Given the description of an element on the screen output the (x, y) to click on. 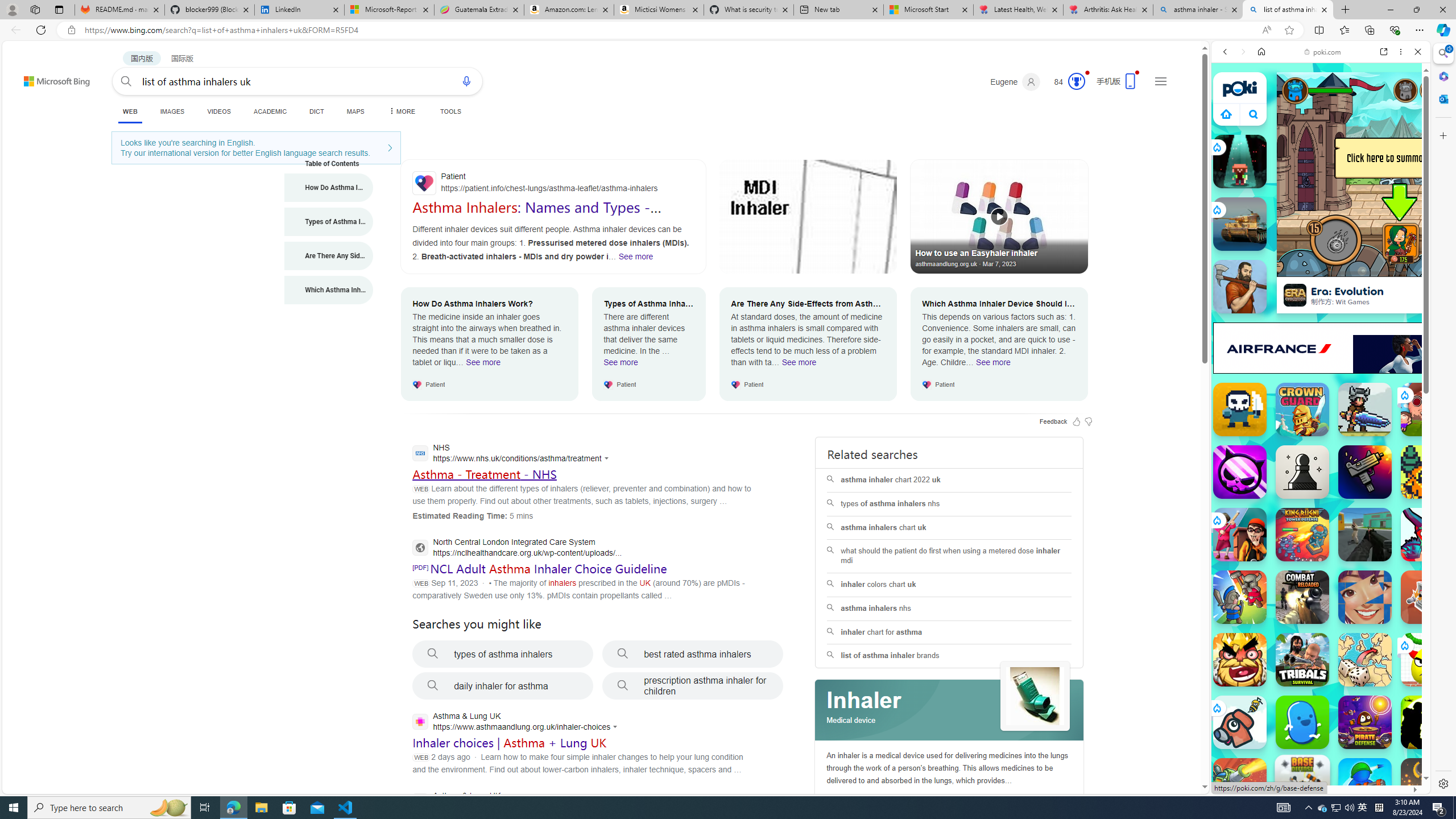
Tiger Tank (1239, 223)
SEARCH TOOLS (1350, 130)
Class: aprWdaSScyiJf4Jvmsx9 (1225, 113)
How Do Asthma Inhalers Work? (328, 187)
Ragdoll Hit (1427, 784)
Class: rCs5cyEiqiTpYvt_VBCR (1216, 707)
Classic Chess (1302, 471)
Feedback Dislike (1088, 420)
Combat Reloaded (1348, 574)
Car Games (1320, 267)
Actions for this site (617, 726)
